Given the description of an element on the screen output the (x, y) to click on. 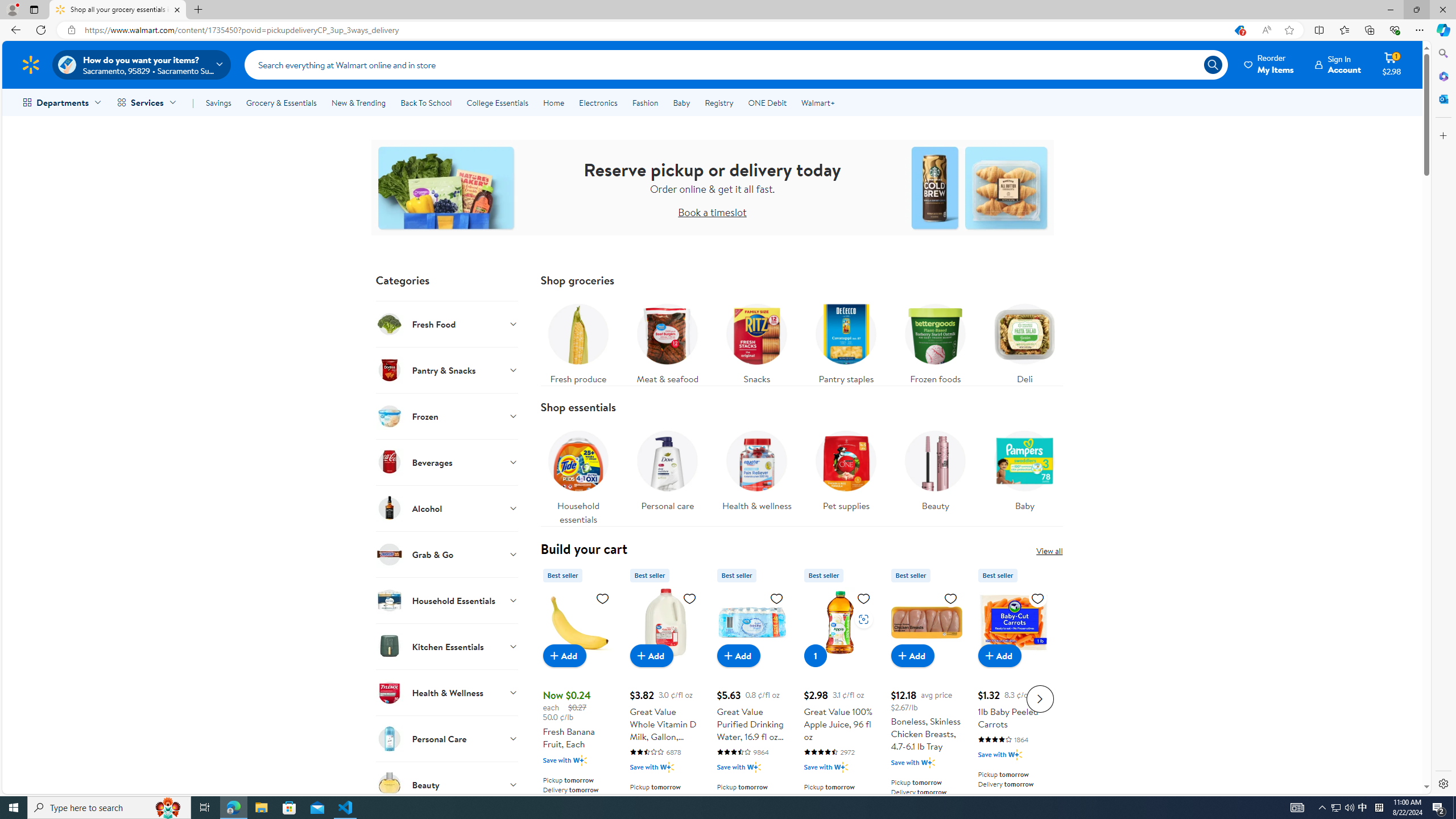
ONE Debit (767, 102)
Fresh produce (577, 340)
Back To School (425, 102)
1lb Baby Peeled Carrots (1012, 621)
Baby (1024, 467)
College Essentials (496, 102)
New & Trending (358, 102)
Fresh Banana Fruit, Each (578, 621)
